Given the description of an element on the screen output the (x, y) to click on. 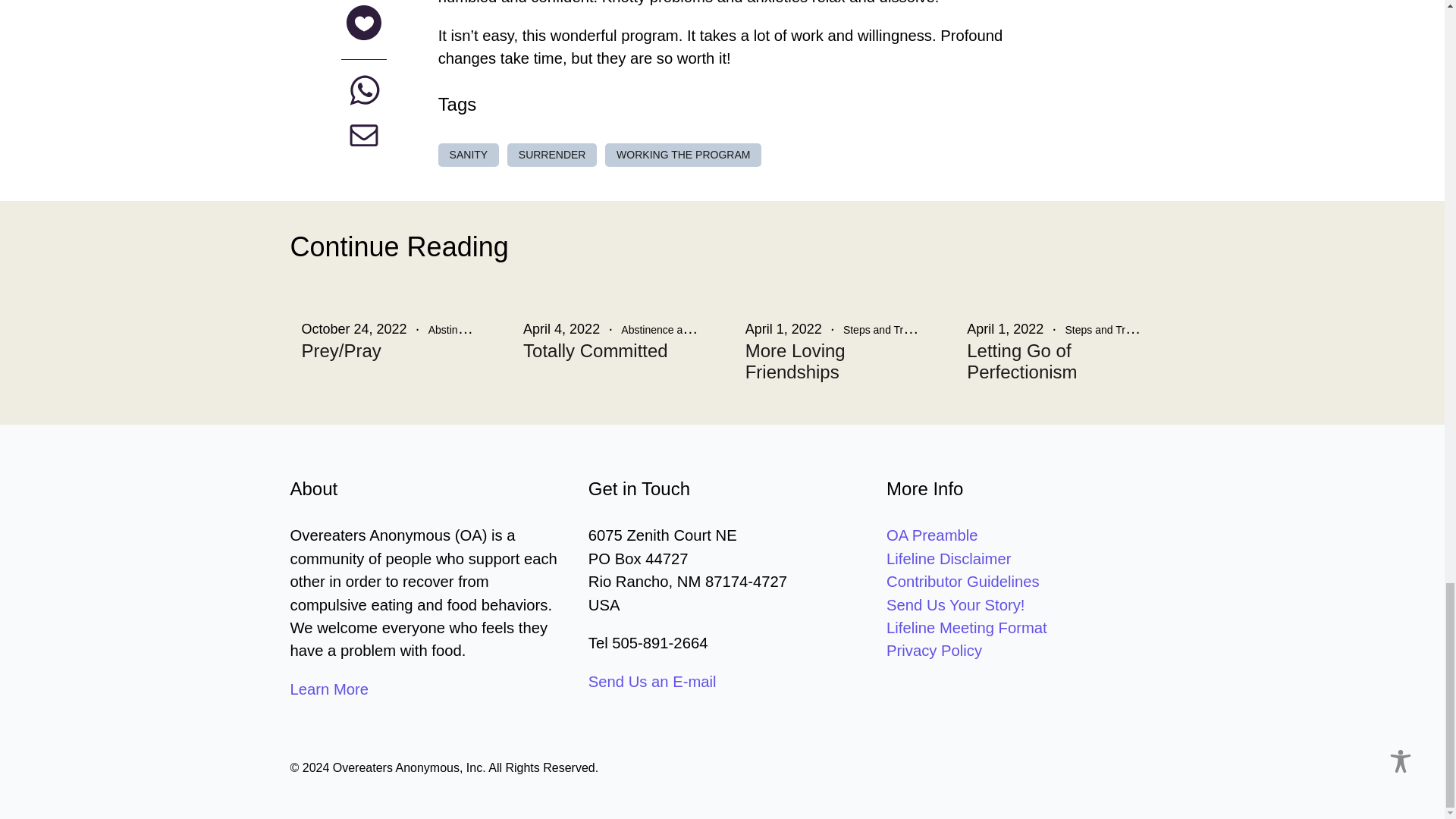
Learn More (328, 688)
OA Preamble (931, 535)
Letting Go of Perfectionism (1054, 361)
Lifeline Disclaimer (948, 558)
WORKING THE PROGRAM (683, 155)
SANITY (468, 155)
Send Us Your Story! (955, 605)
Send Us an E-mail (652, 681)
Privacy Policy (933, 650)
Contributor Guidelines (962, 581)
SURRENDER (551, 155)
Lifeline Meeting Format (966, 627)
Totally Committed (610, 350)
More Loving Friendships (833, 361)
